Given the description of an element on the screen output the (x, y) to click on. 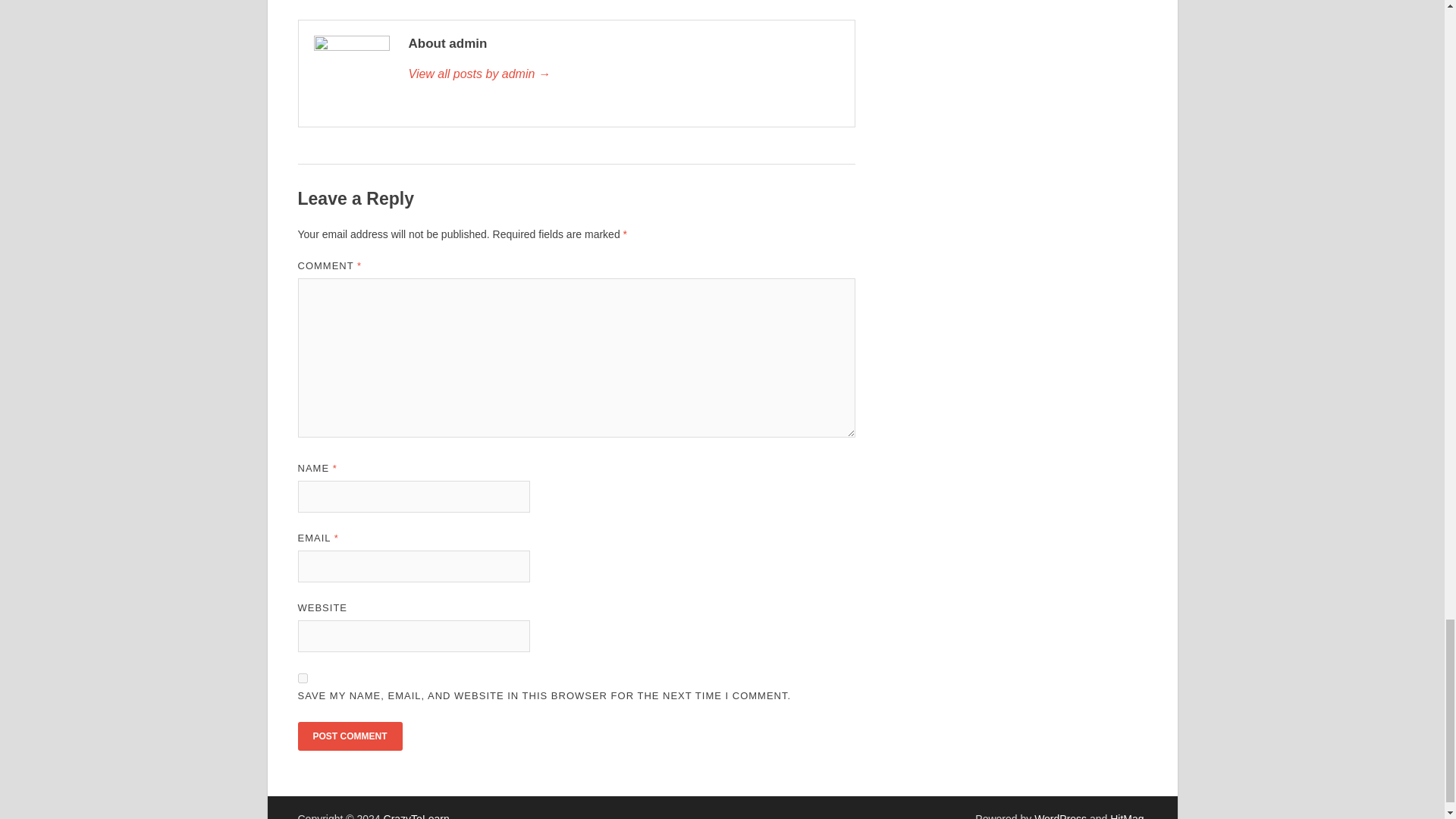
Post Comment (349, 736)
admin (622, 74)
yes (302, 678)
